Given the description of an element on the screen output the (x, y) to click on. 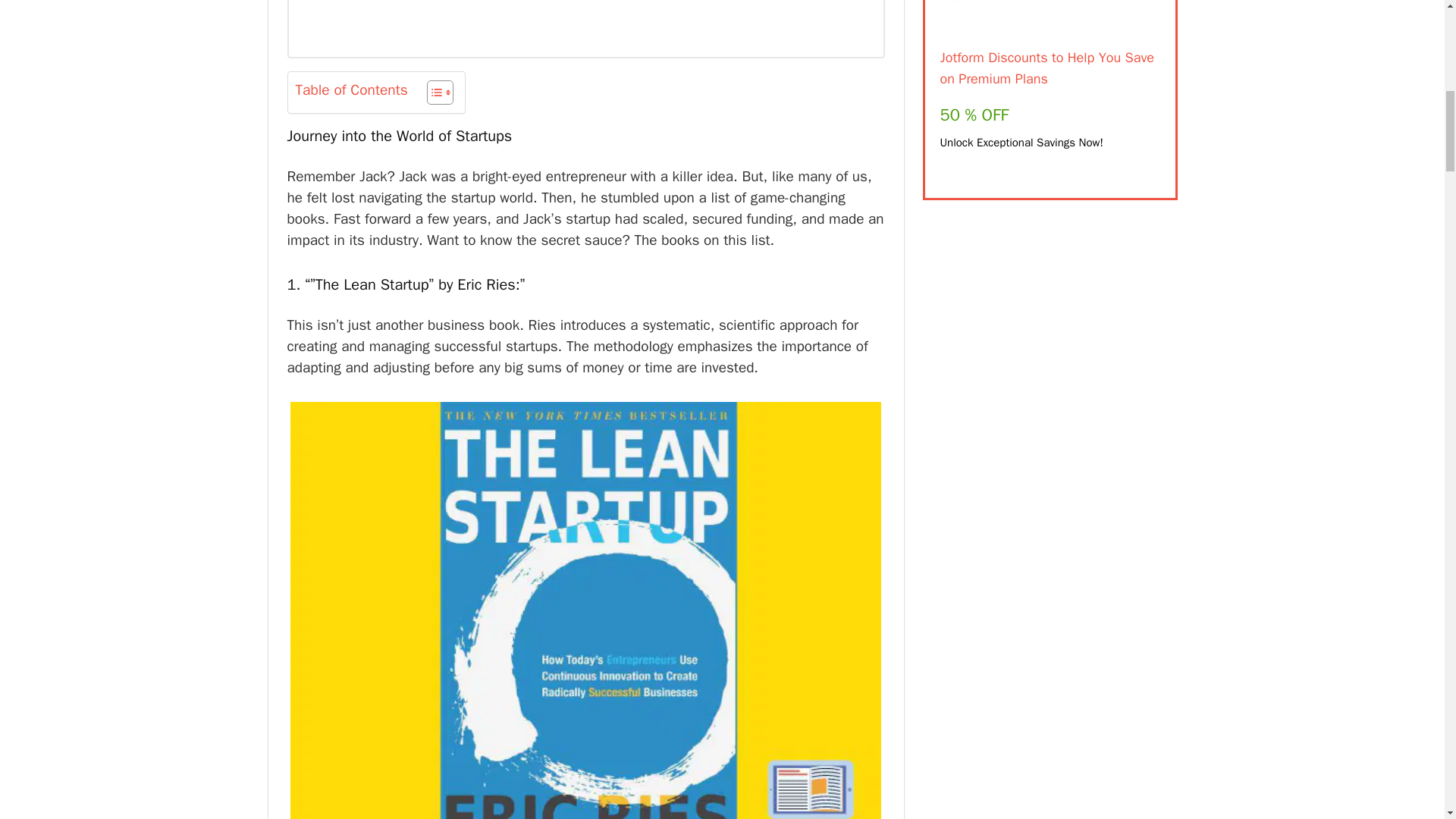
newsletter-form (584, 29)
